Given the description of an element on the screen output the (x, y) to click on. 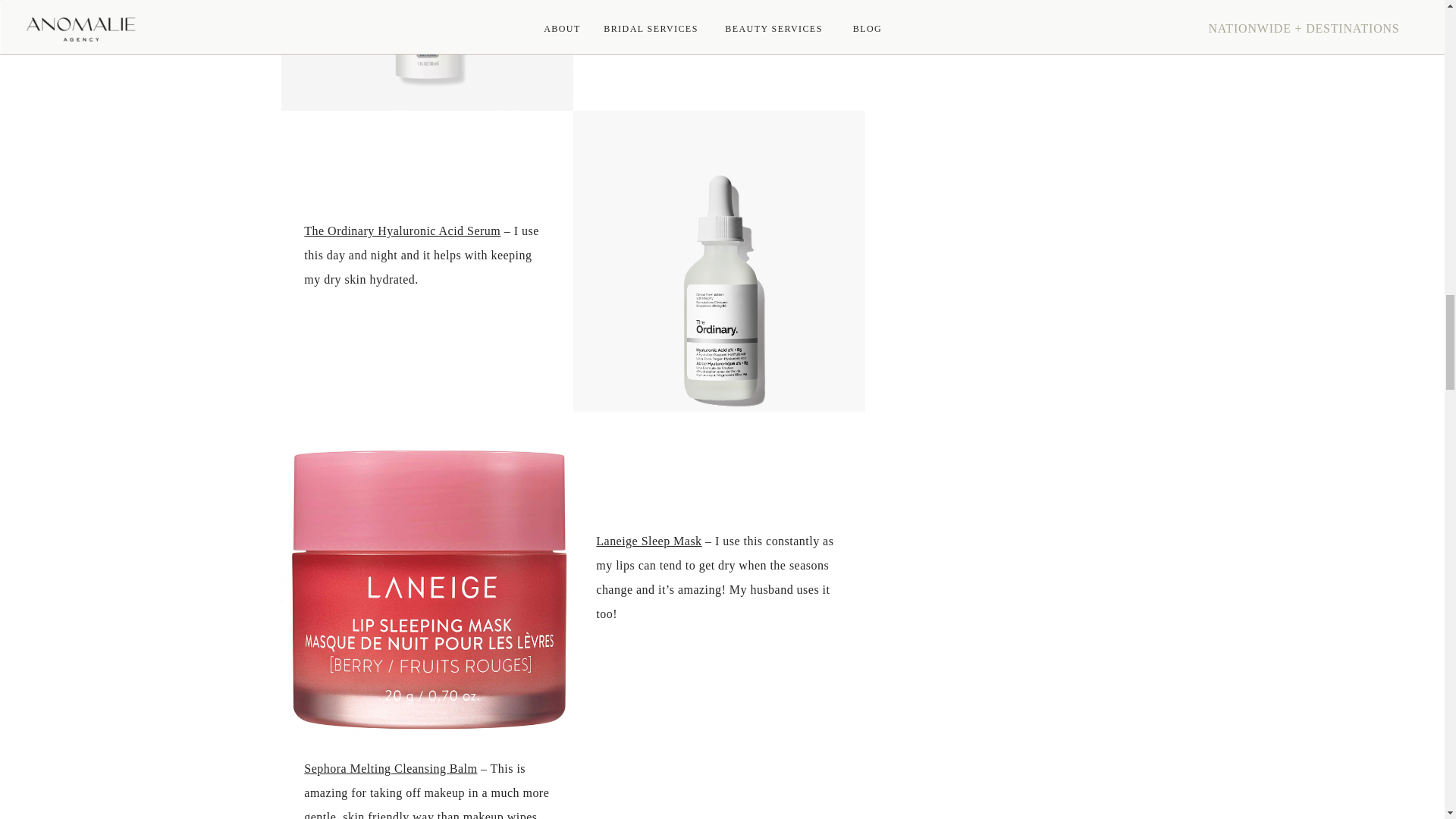
The Ordinary Hyaluronic Acid Serum (402, 230)
Laneige Sleep Mask (648, 540)
Sephora Melting Cleansing Balm (390, 768)
